Given the description of an element on the screen output the (x, y) to click on. 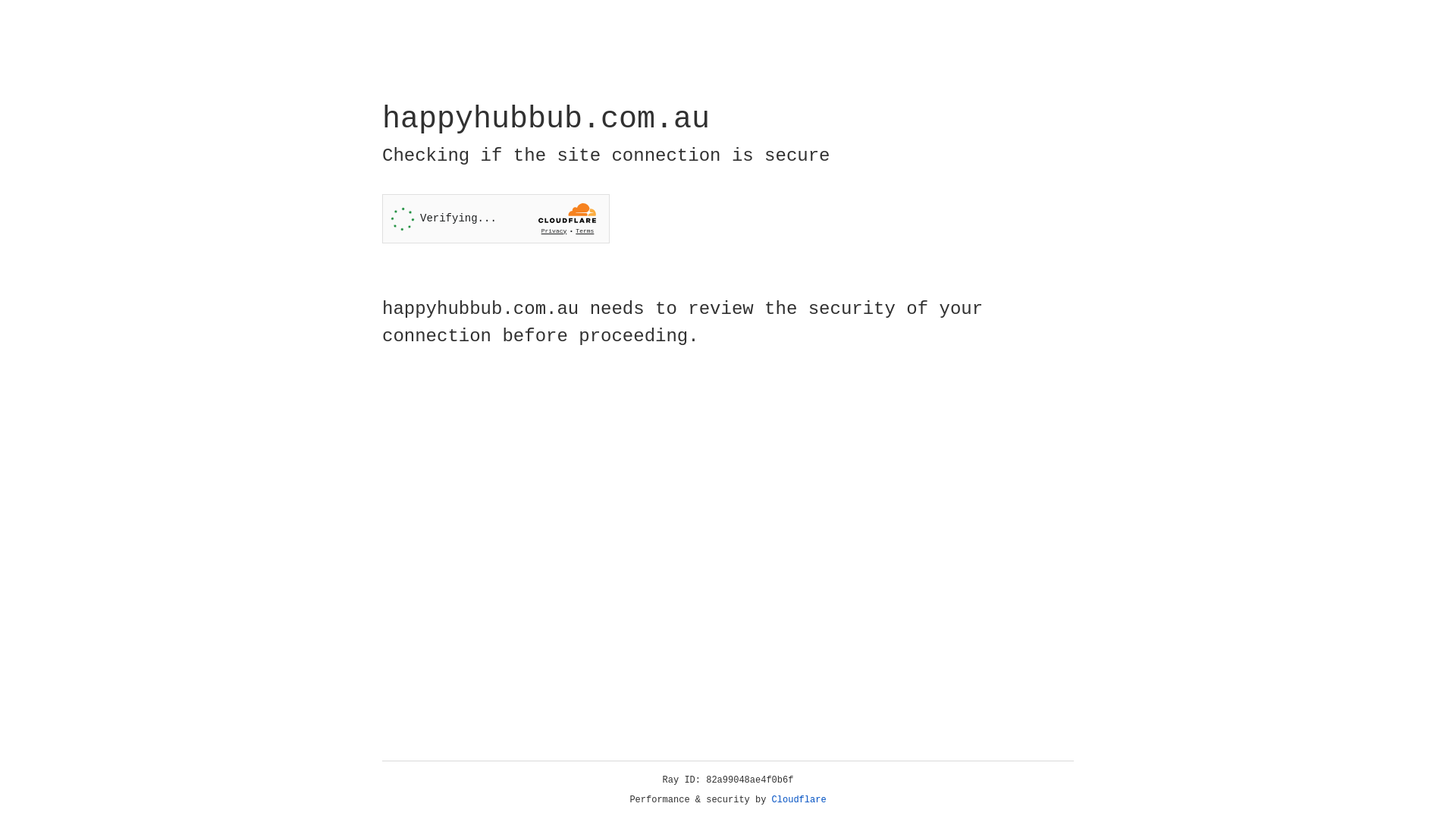
Cloudflare Element type: text (798, 799)
Widget containing a Cloudflare security challenge Element type: hover (495, 218)
